Given the description of an element on the screen output the (x, y) to click on. 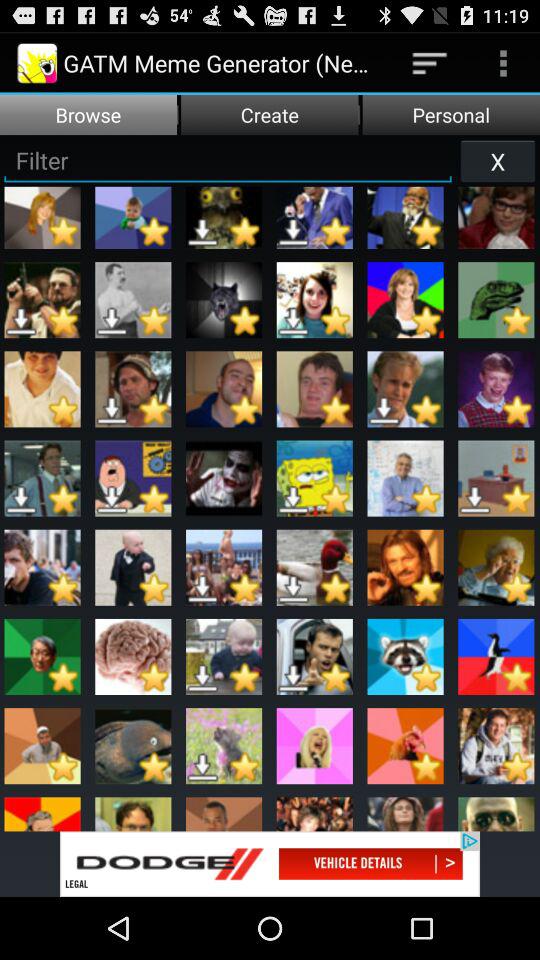
dodge vehicle details legal (270, 864)
